Given the description of an element on the screen output the (x, y) to click on. 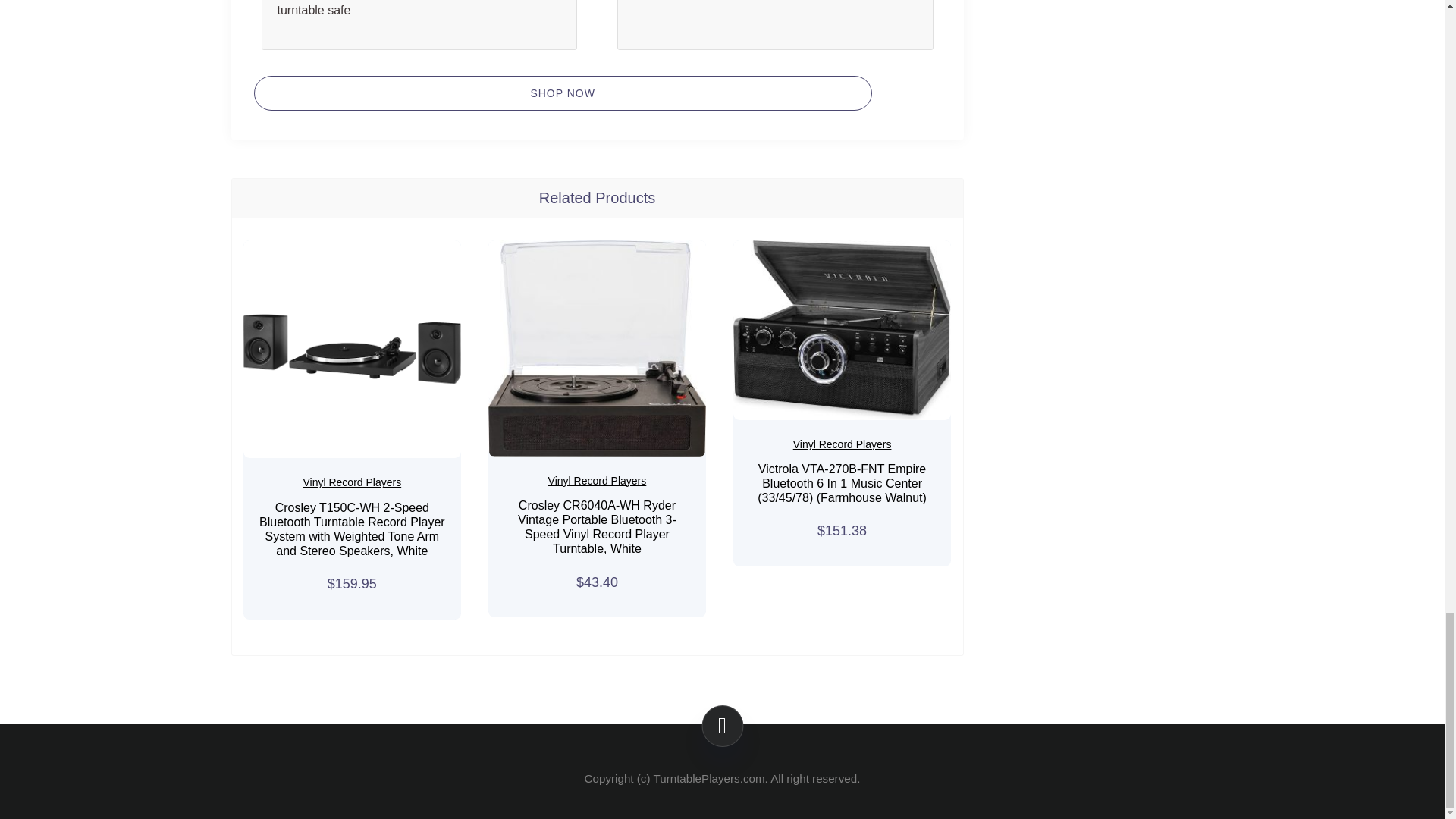
Vinyl Record Players (351, 481)
SHOP NOW (561, 93)
Vinyl Record Players (597, 480)
